Given the description of an element on the screen output the (x, y) to click on. 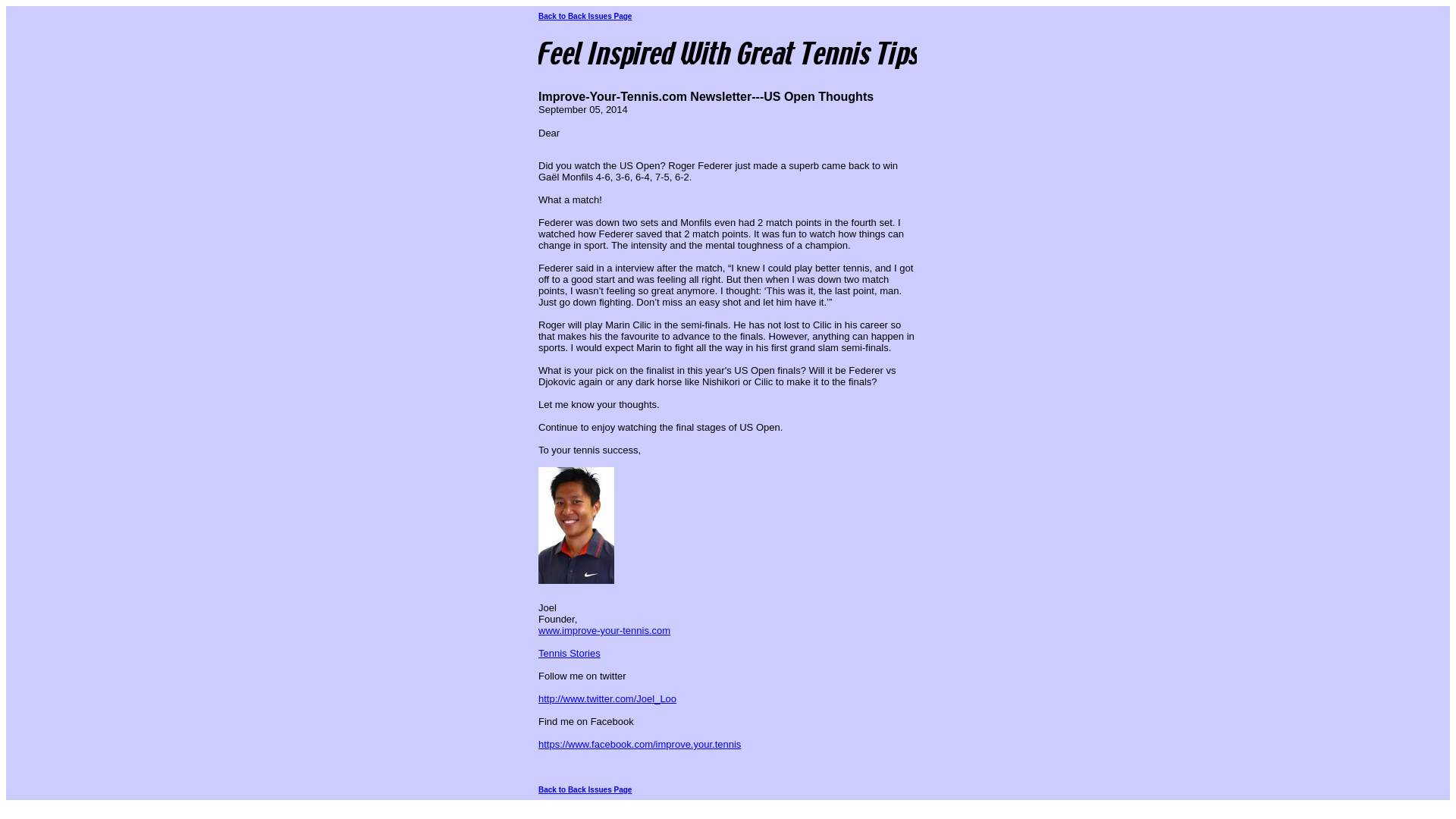
Back to Back Issues Page (584, 789)
Tennis Stories (568, 653)
www.improve-your-tennis.com (603, 630)
Back to Back Issues Page (584, 16)
